Given the description of an element on the screen output the (x, y) to click on. 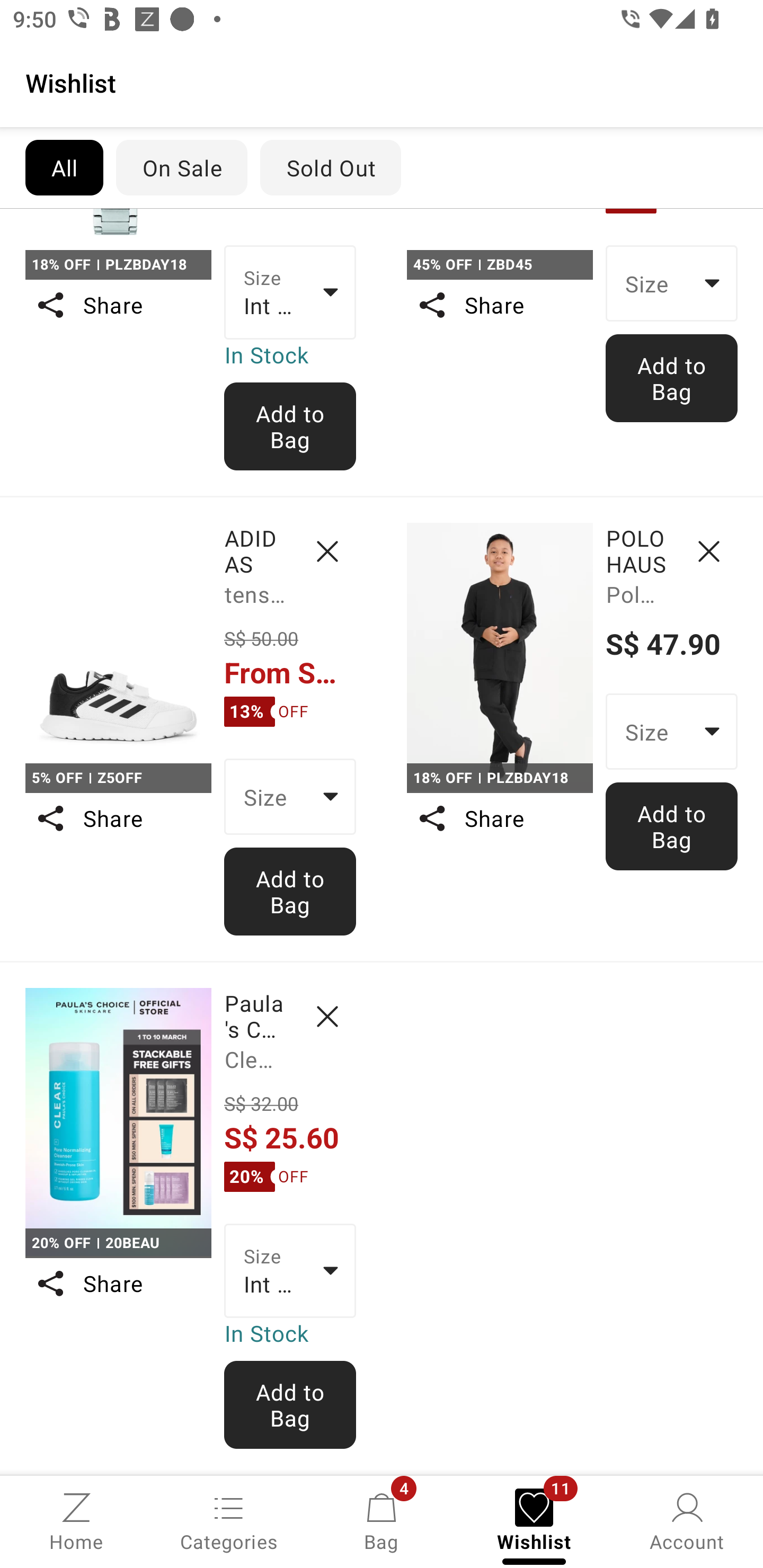
Wishlist (381, 82)
All (64, 167)
On Sale (181, 167)
Sold Out (330, 167)
Size Int One Size (290, 292)
Size (671, 282)
Share (118, 304)
Share (499, 304)
Add to Bag (671, 377)
Add to Bag (290, 426)
Size (671, 731)
Size (290, 796)
Add to Bag (671, 826)
Share (118, 818)
Share (499, 818)
Add to Bag (290, 892)
Size Int 177 ml (290, 1270)
Share (118, 1283)
Add to Bag (290, 1404)
Home (76, 1519)
Categories (228, 1519)
Bag, 4 new notifications Bag (381, 1519)
Account (686, 1519)
